Given the description of an element on the screen output the (x, y) to click on. 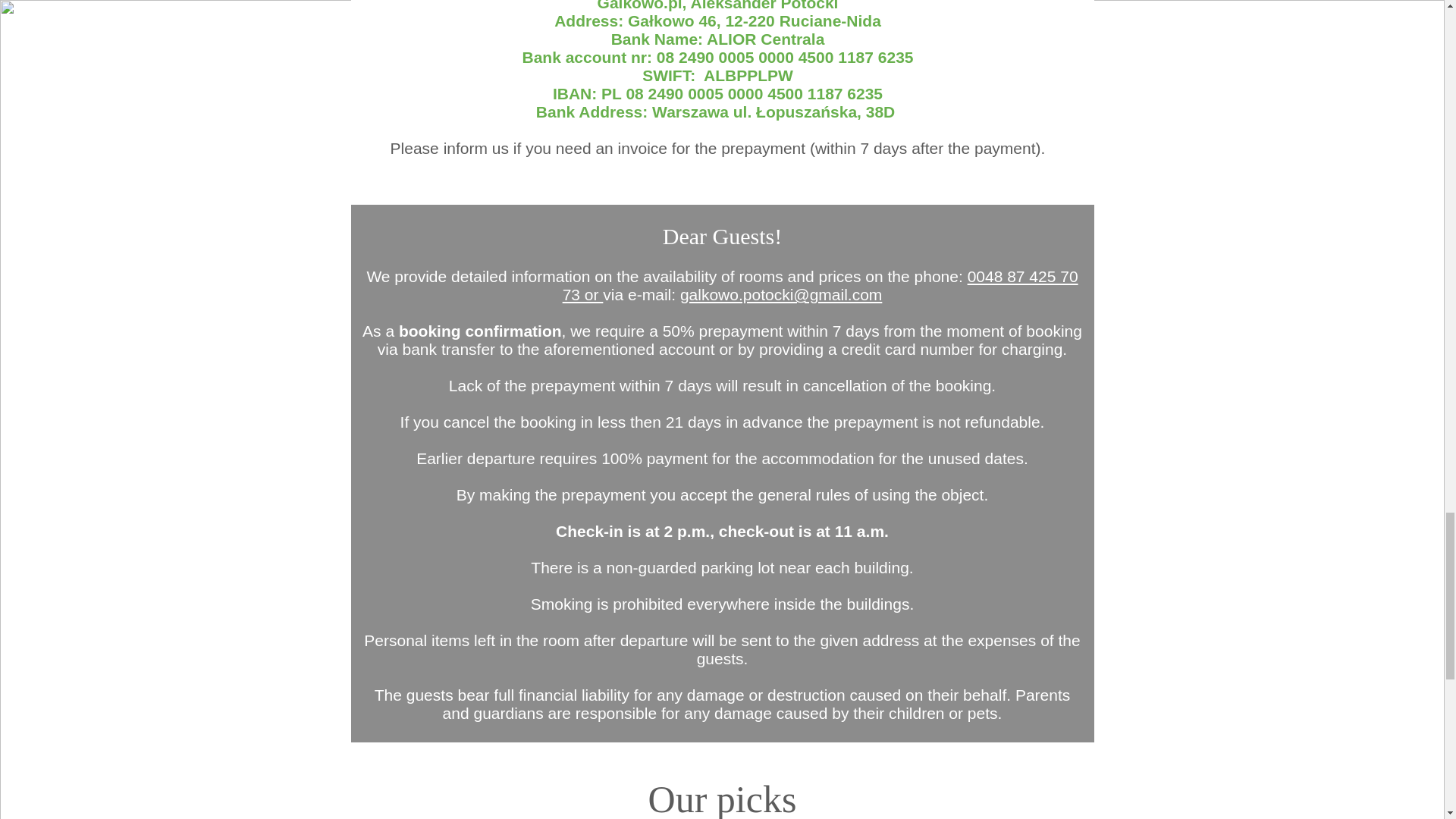
0048 87 425 70 73 or (820, 285)
